Given the description of an element on the screen output the (x, y) to click on. 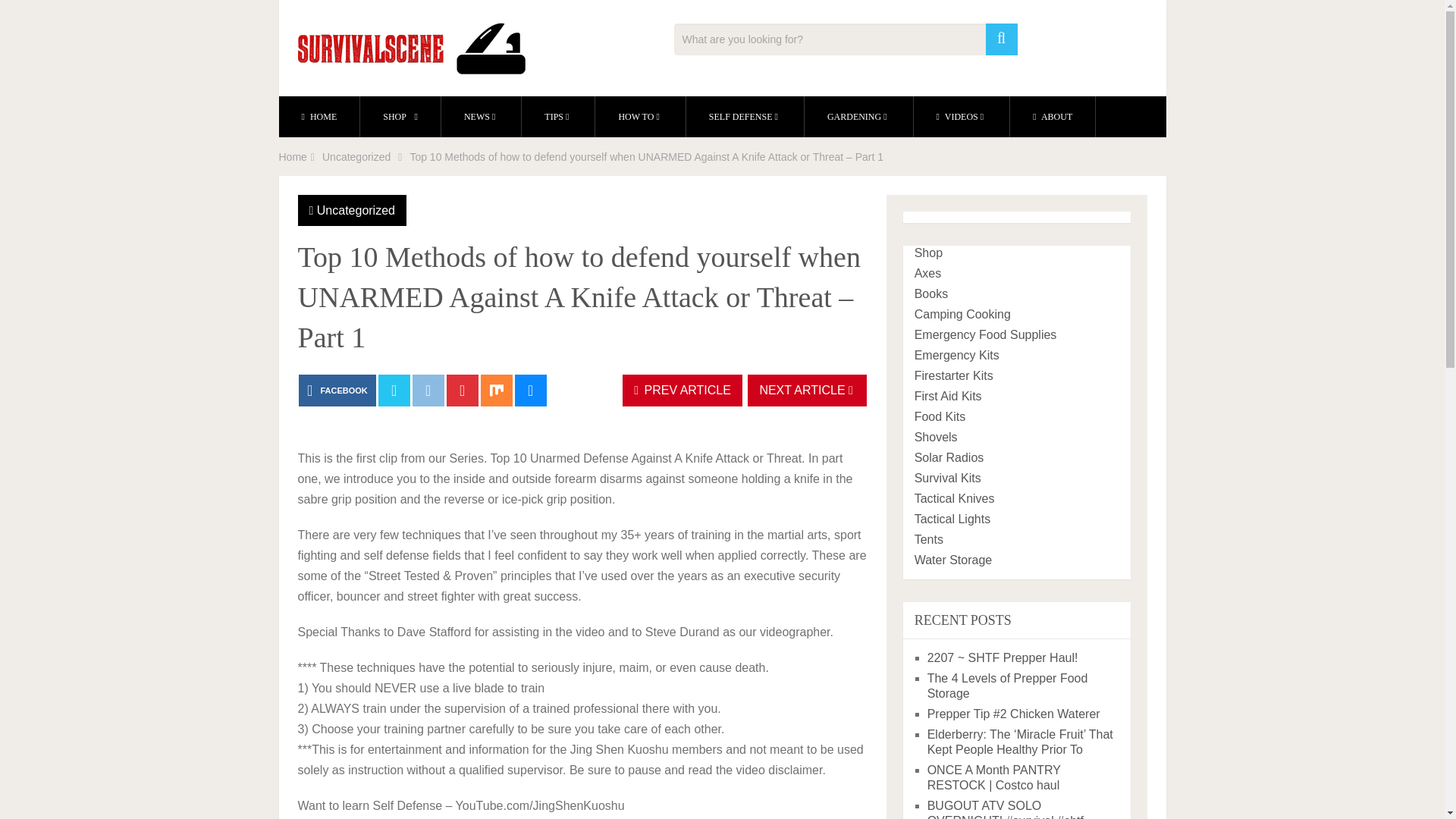
ABOUT (1052, 116)
HOME (319, 116)
HOW TO (639, 116)
Home (293, 156)
SHOP (400, 116)
PREV ARTICLE (682, 390)
NEXT ARTICLE (807, 390)
NEWS (481, 116)
SELF DEFENSE (744, 116)
GARDENING (858, 116)
